Given the description of an element on the screen output the (x, y) to click on. 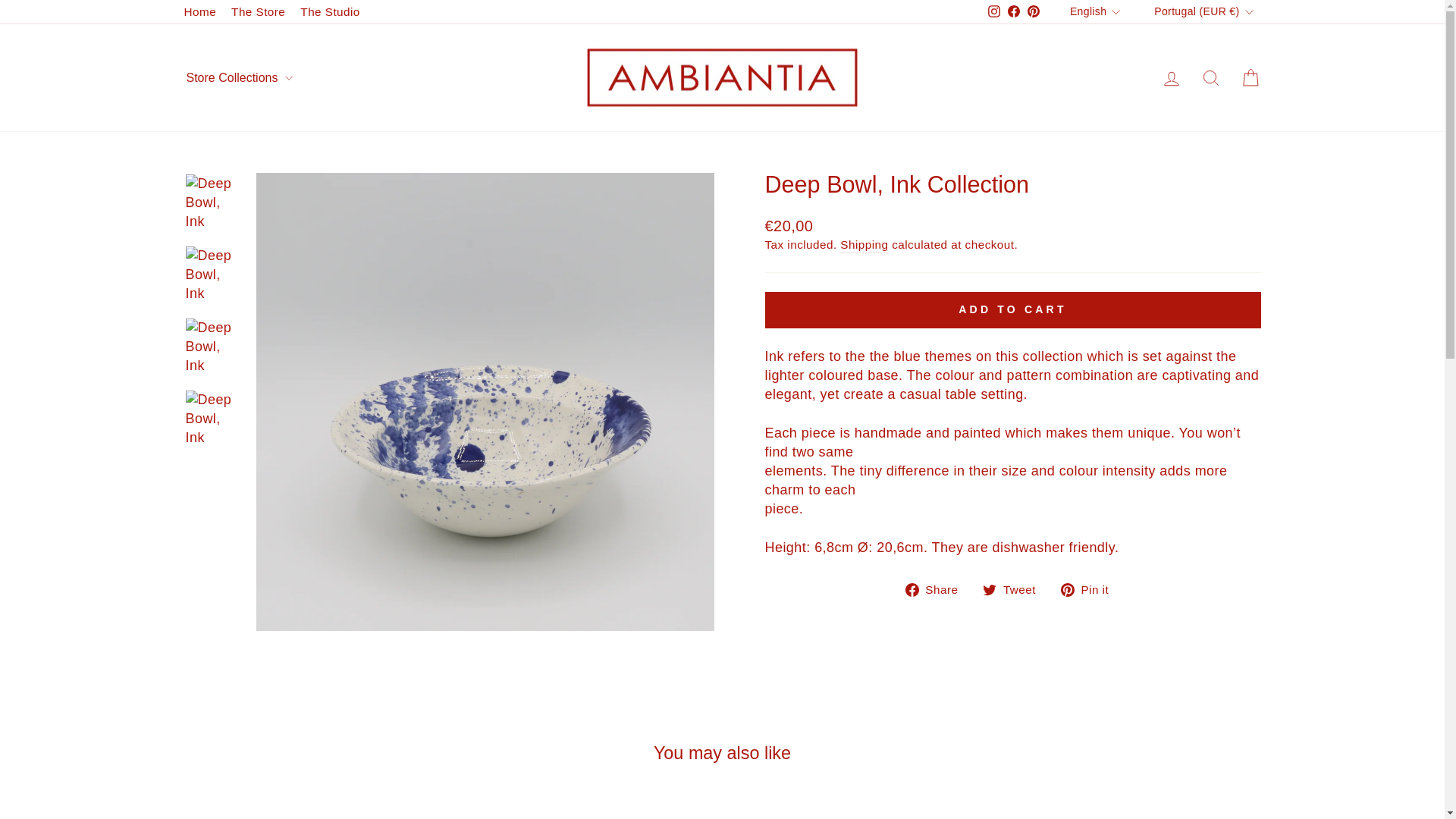
English (1095, 11)
The Studio (329, 11)
Home (200, 11)
The Store (258, 11)
icon-search (1210, 77)
Tweet on Twitter (1014, 588)
Pin on Pinterest (1090, 588)
Share on Facebook (937, 588)
account (1170, 78)
twitter (988, 590)
instagram (994, 10)
